Given the description of an element on the screen output the (x, y) to click on. 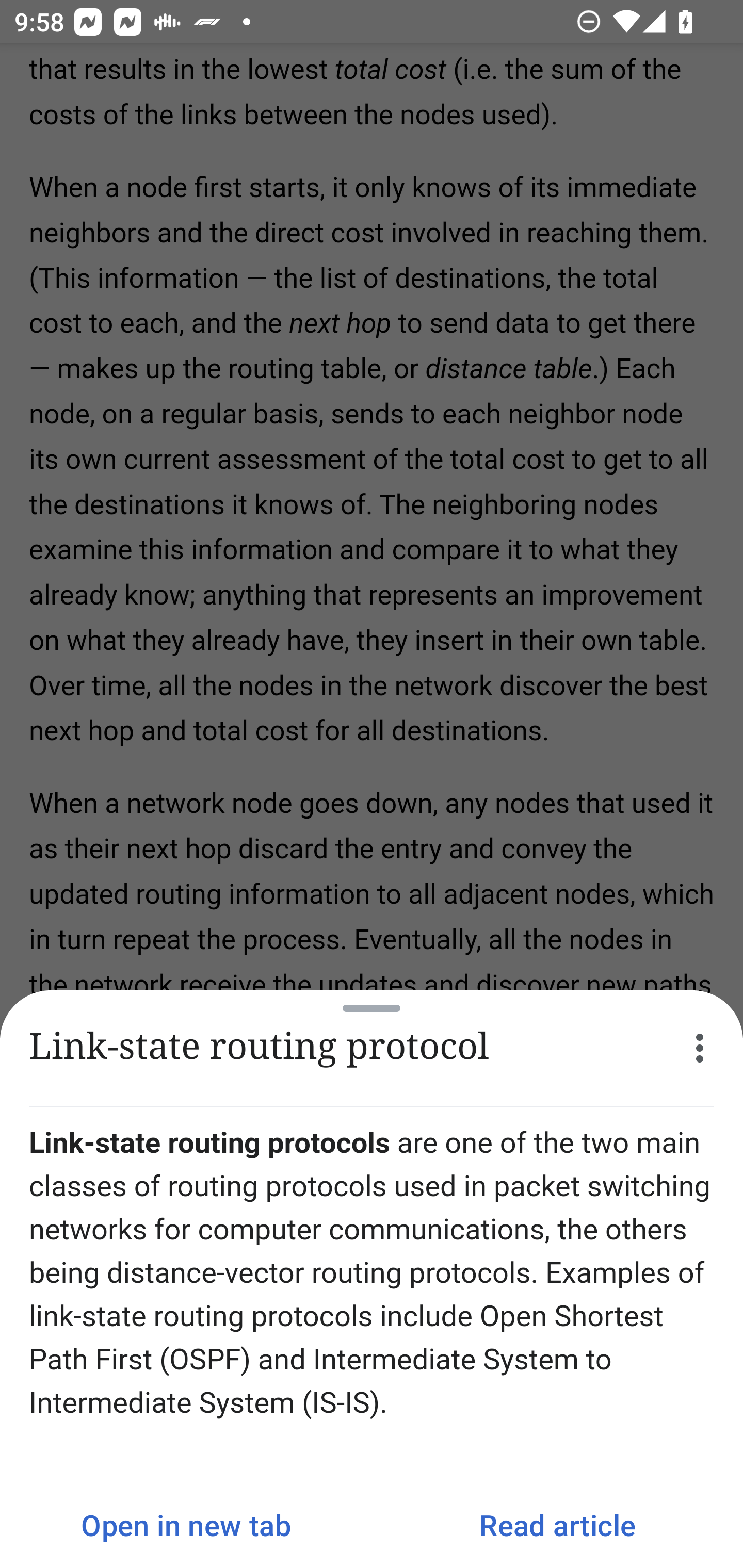
Link-state routing protocol More options (371, 1047)
More options (699, 1048)
Open in new tab (185, 1524)
Read article (557, 1524)
